Given the description of an element on the screen output the (x, y) to click on. 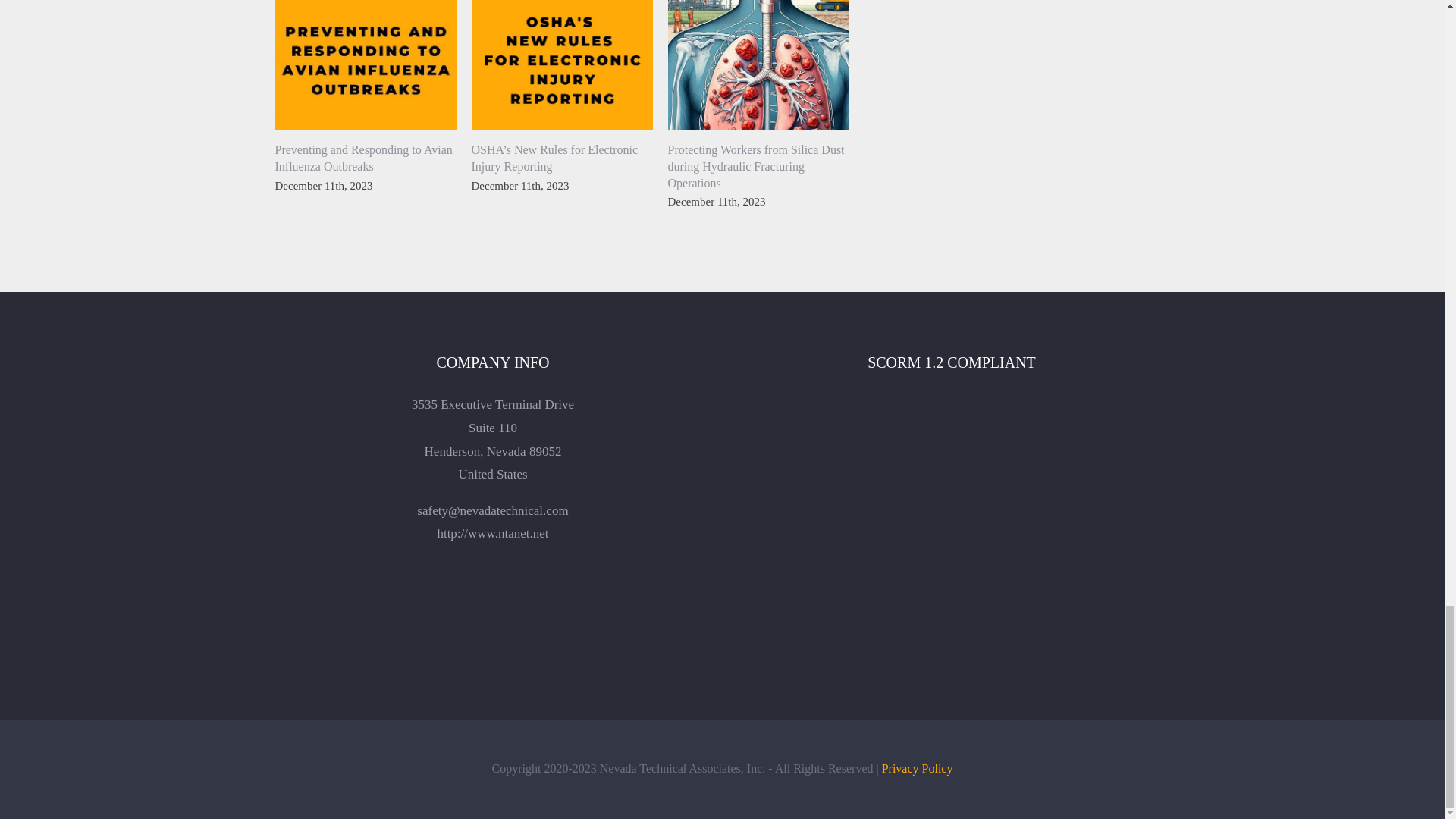
Preventing and Responding to Avian Influenza Outbreaks (363, 157)
